Given the description of an element on the screen output the (x, y) to click on. 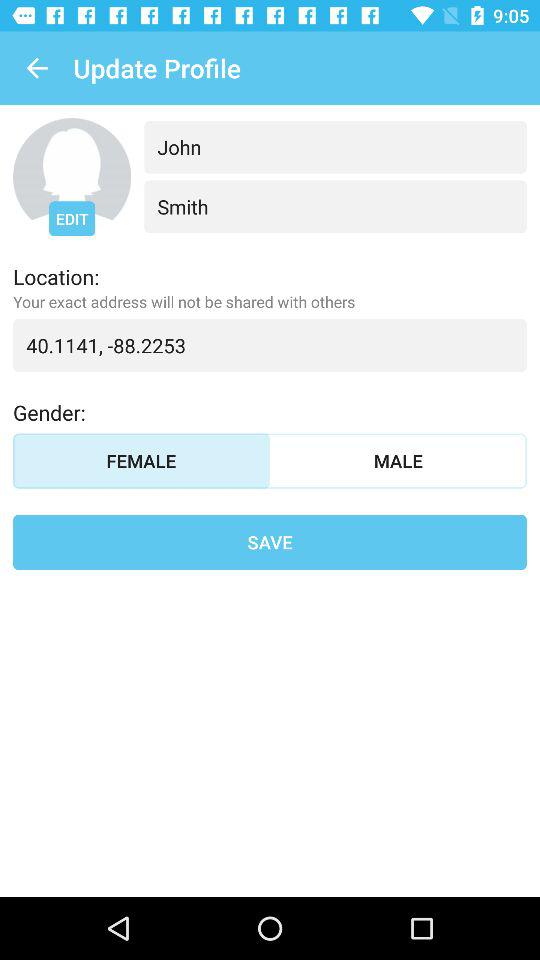
tap the edit item (72, 218)
